Given the description of an element on the screen output the (x, y) to click on. 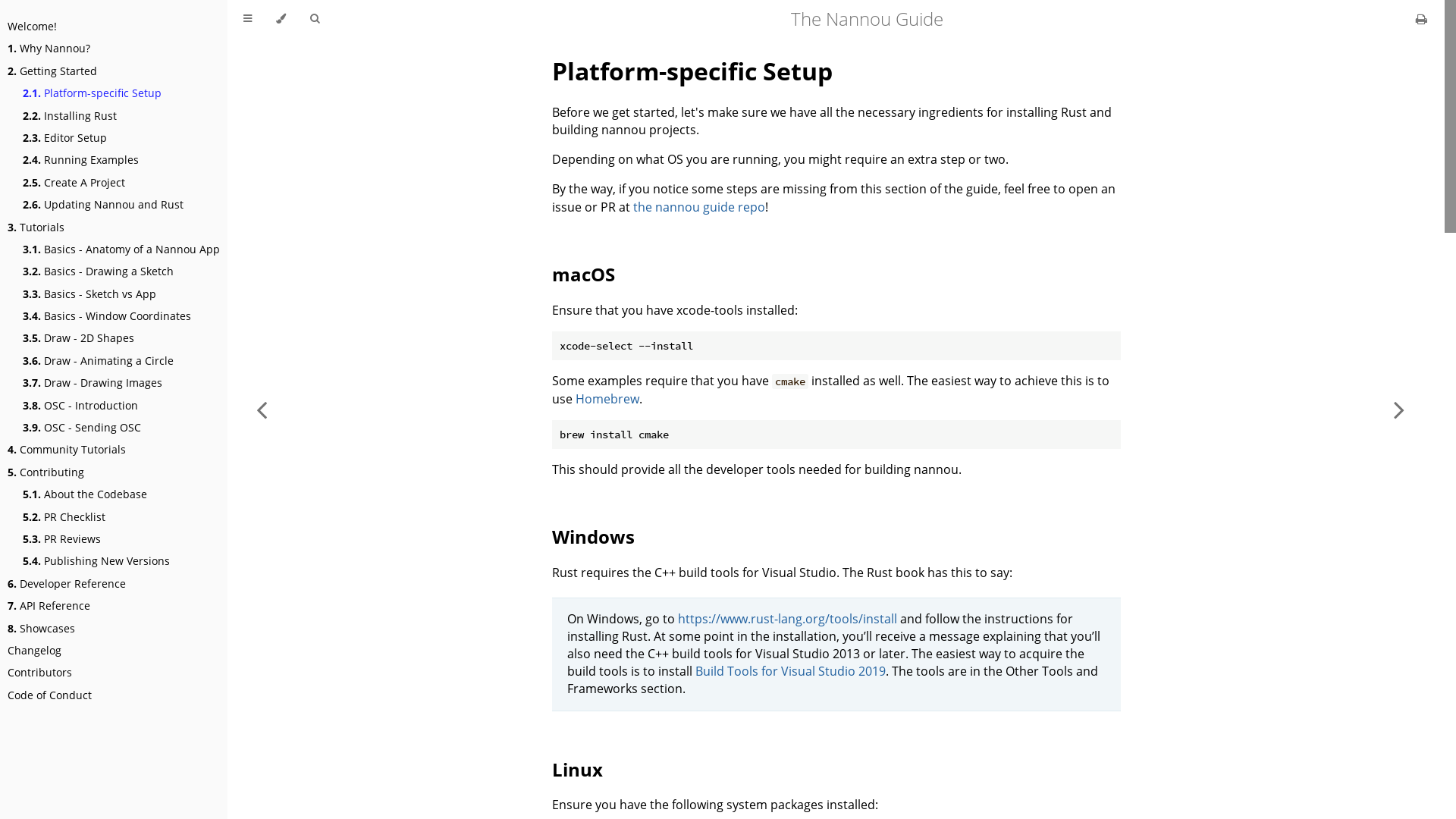
macOS Element type: text (583, 273)
Build Tools for Visual Studio 2019 Element type: text (789, 670)
Search. (Shortkey: s) Element type: hover (314, 18)
Change theme Element type: hover (280, 18)
3.8. OSC - Introduction Element type: text (80, 405)
5.4. Publishing New Versions Element type: text (95, 560)
7. API Reference Element type: text (48, 605)
3.3. Basics - Sketch vs App Element type: text (89, 293)
4. Community Tutorials Element type: text (66, 449)
5.3. PR Reviews Element type: text (61, 538)
5.1. About the Codebase Element type: text (84, 494)
2.6. Updating Nannou and Rust Element type: text (102, 204)
6. Developer Reference Element type: text (66, 583)
2.1. Platform-specific Setup Element type: text (91, 92)
3.1. Basics - Anatomy of a Nannou App Element type: text (120, 249)
2.5. Create A Project Element type: text (73, 182)
8. Showcases Element type: text (41, 628)
3.5. Draw - 2D Shapes Element type: text (78, 337)
3.9. OSC - Sending OSC Element type: text (81, 427)
Welcome! Element type: text (31, 26)
2.2. Installing Rust Element type: text (69, 115)
3.4. Basics - Window Coordinates Element type: text (106, 315)
Toggle Table of Contents Element type: hover (247, 18)
5.2. PR Checklist Element type: text (63, 516)
Code of Conduct Element type: text (49, 694)
3. Tutorials Element type: text (35, 227)
Linux Element type: text (577, 768)
the nannou guide repo Element type: text (698, 206)
Windows Element type: text (593, 536)
1. Why Nannou? Element type: text (48, 48)
3.6. Draw - Animating a Circle Element type: text (97, 360)
Print this book Element type: hover (1421, 18)
Platform-specific Setup Element type: text (692, 70)
Homebrew Element type: text (606, 398)
Contributors Element type: text (39, 672)
Changelog Element type: text (34, 650)
5. Contributing Element type: text (45, 472)
3.2. Basics - Drawing a Sketch Element type: text (97, 271)
2.4. Running Examples Element type: text (80, 159)
2.3. Editor Setup Element type: text (64, 137)
https://www.rust-lang.org/tools/install Element type: text (787, 618)
3.7. Draw - Drawing Images Element type: text (92, 382)
2. Getting Started Element type: text (52, 70)
